Given the description of an element on the screen output the (x, y) to click on. 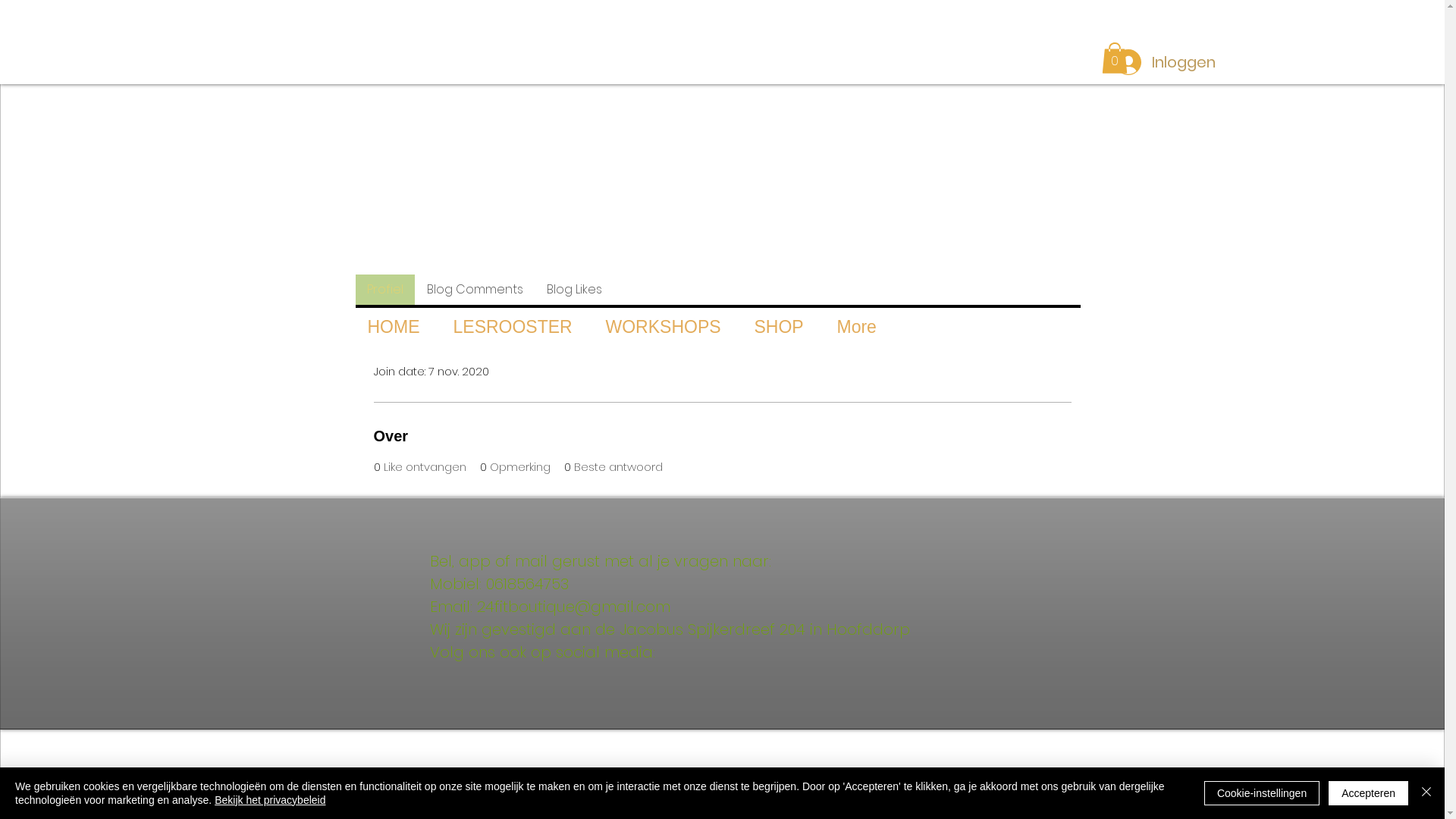
Accepteren Element type: text (1368, 793)
0 Element type: text (1113, 57)
Cookie-instellingen Element type: text (1261, 793)
Blog Likes Element type: text (572, 289)
Profiel Element type: text (384, 289)
SHOP Element type: text (778, 326)
LESROOSTER Element type: text (512, 326)
Blog Comments Element type: text (473, 289)
Inloggen Element type: text (1164, 60)
Bekijk het privacybeleid Element type: text (269, 799)
HOME Element type: text (392, 326)
24fitboutique@gmail.com Element type: text (572, 606)
WORKSHOPS Element type: text (662, 326)
